Given the description of an element on the screen output the (x, y) to click on. 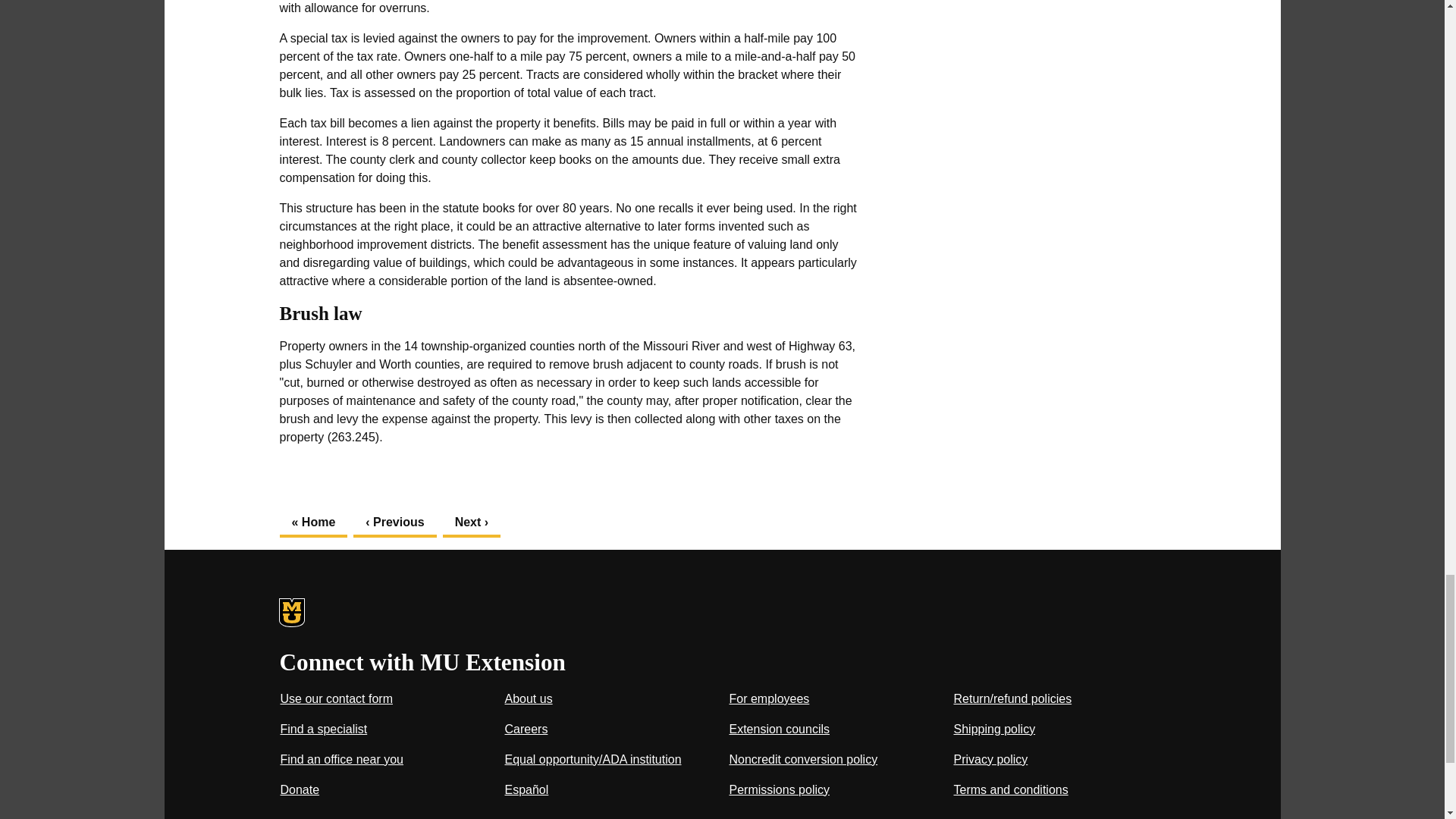
Go to first page (313, 521)
Go to previous page (394, 521)
Go to next page (471, 521)
